Given the description of an element on the screen output the (x, y) to click on. 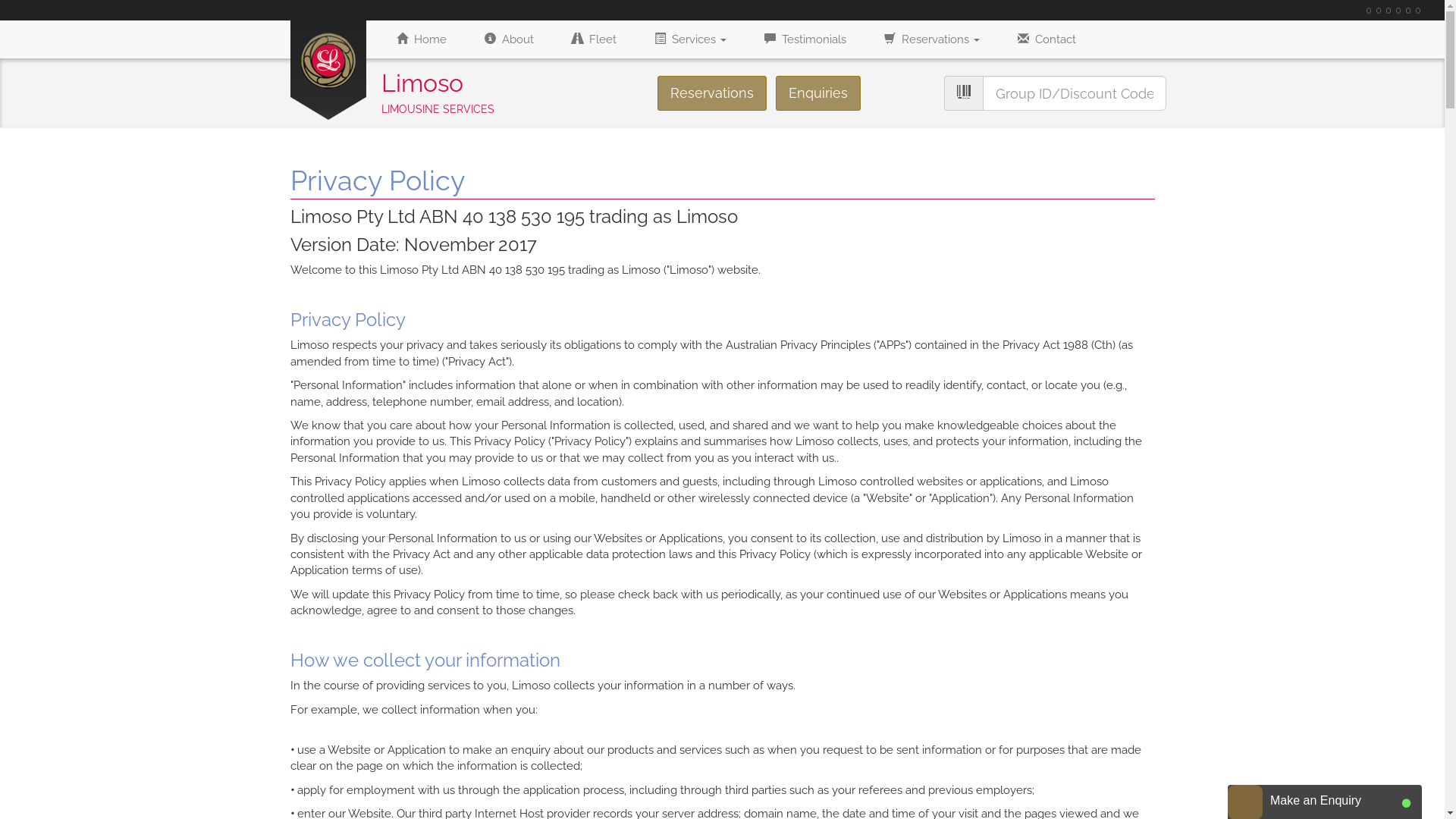
  Fleet Element type: text (593, 39)
Enquiries Element type: text (817, 92)
  About Element type: text (508, 39)
  Reservations Element type: text (930, 39)
  Home Element type: text (421, 39)
  Contact Element type: text (1045, 39)
Reservations Element type: text (711, 92)
  Testimonials Element type: text (804, 39)
  Services Element type: text (690, 39)
